Given the description of an element on the screen output the (x, y) to click on. 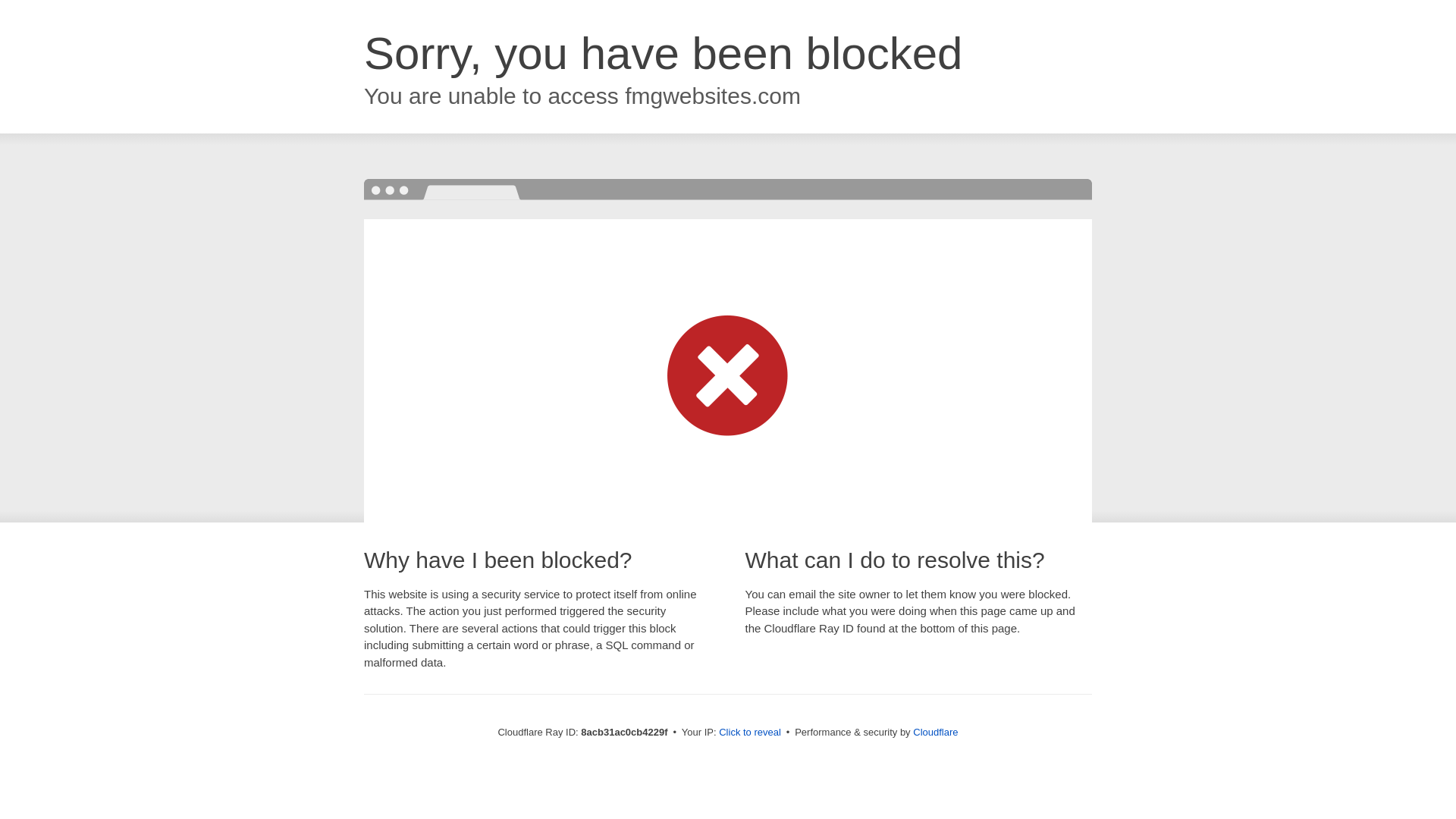
Cloudflare (935, 731)
Click to reveal (749, 732)
